Given the description of an element on the screen output the (x, y) to click on. 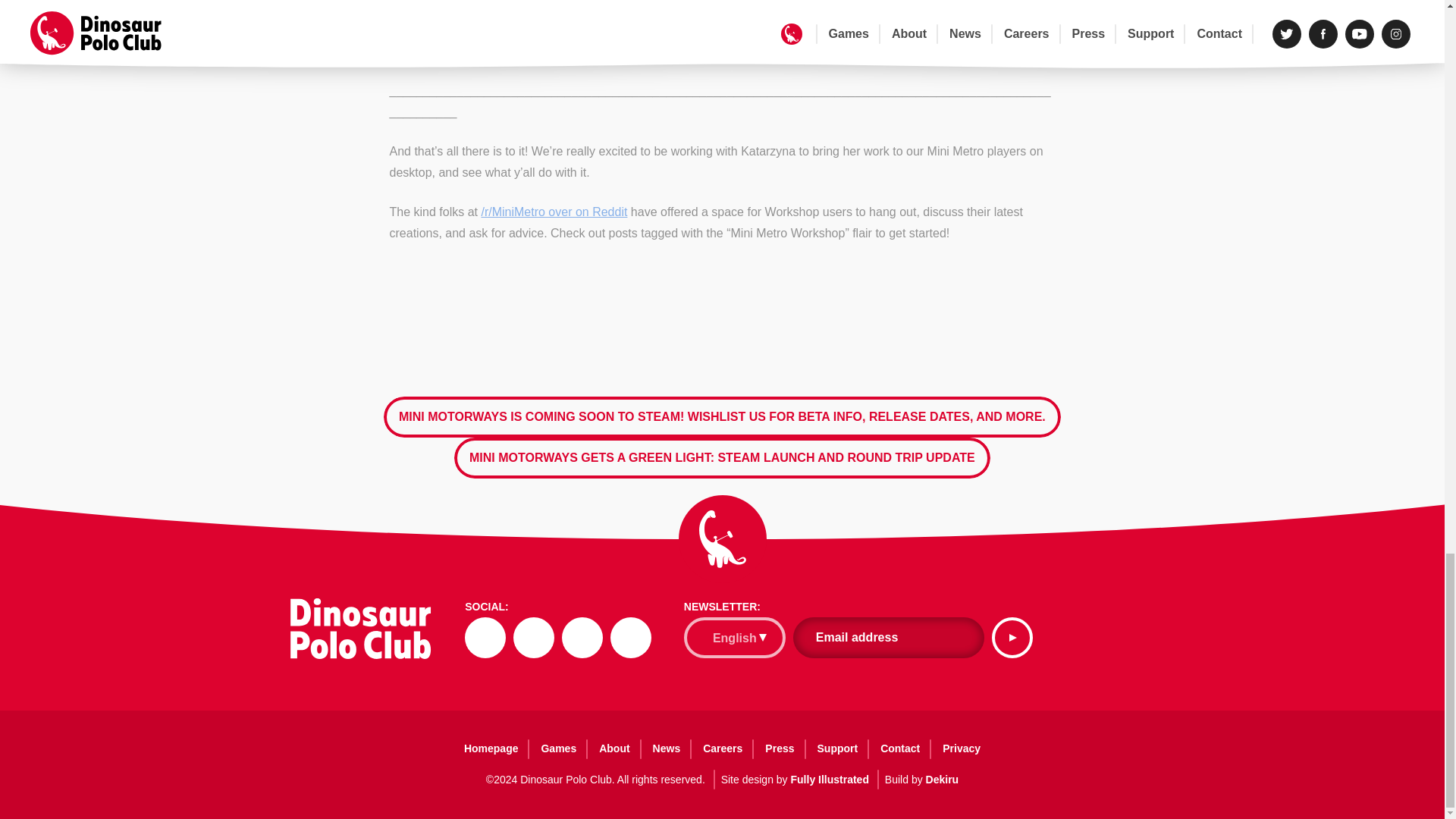
Facebook (533, 637)
Fully Illustrated (828, 779)
Homepage (490, 748)
Privacy (961, 748)
here (630, 51)
Twitter (484, 637)
Games (558, 748)
Instagram (630, 637)
Support (837, 748)
About (614, 748)
Careers (722, 748)
Dekiru (942, 779)
YouTube (582, 637)
